Given the description of an element on the screen output the (x, y) to click on. 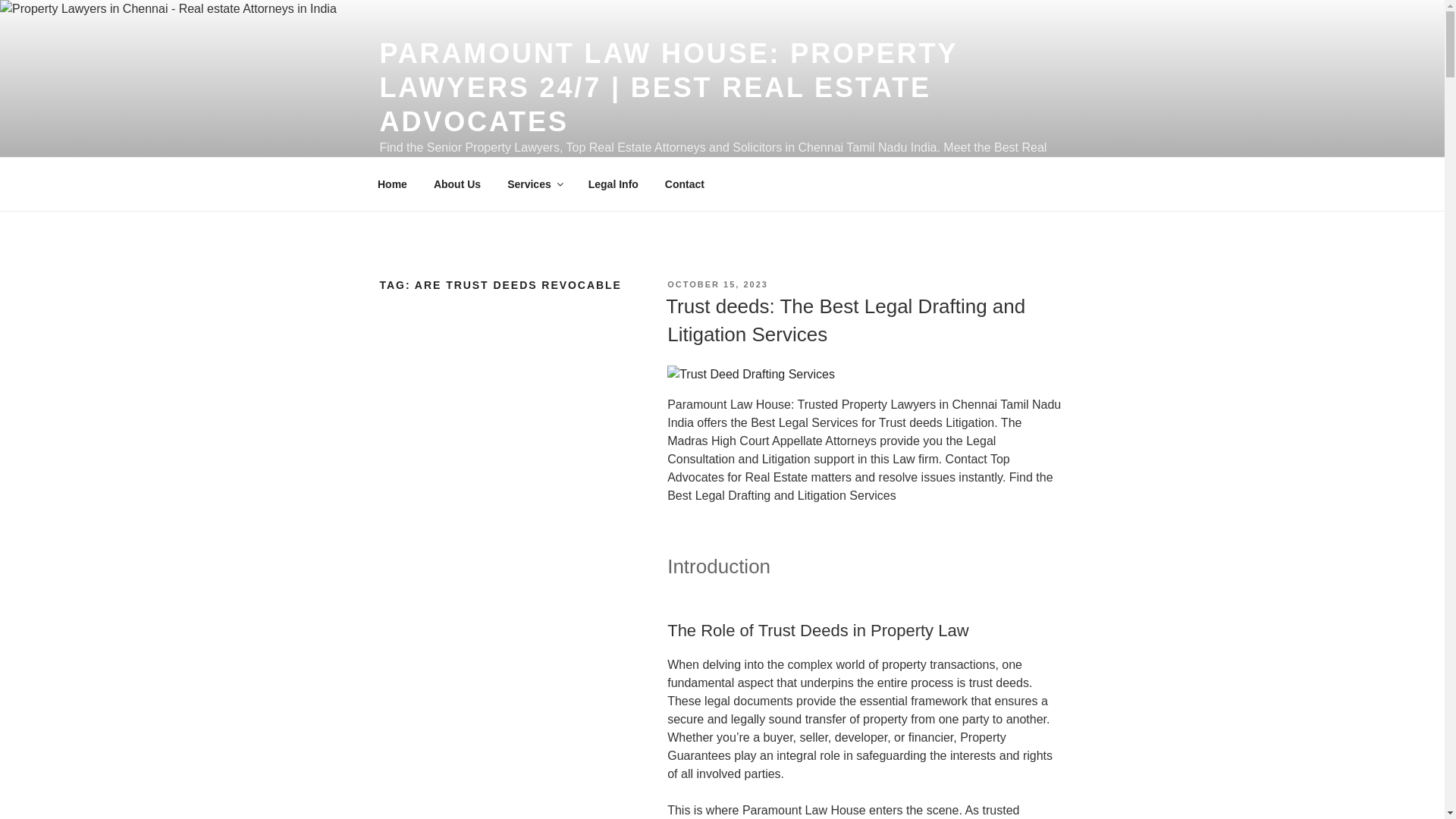
Home (392, 183)
OCTOBER 15, 2023 (717, 284)
Services (535, 183)
Legal Info (612, 183)
Contact (683, 183)
About Us (456, 183)
Trust deeds: The Best Legal Drafting and Litigation Services (845, 319)
